Given the description of an element on the screen output the (x, y) to click on. 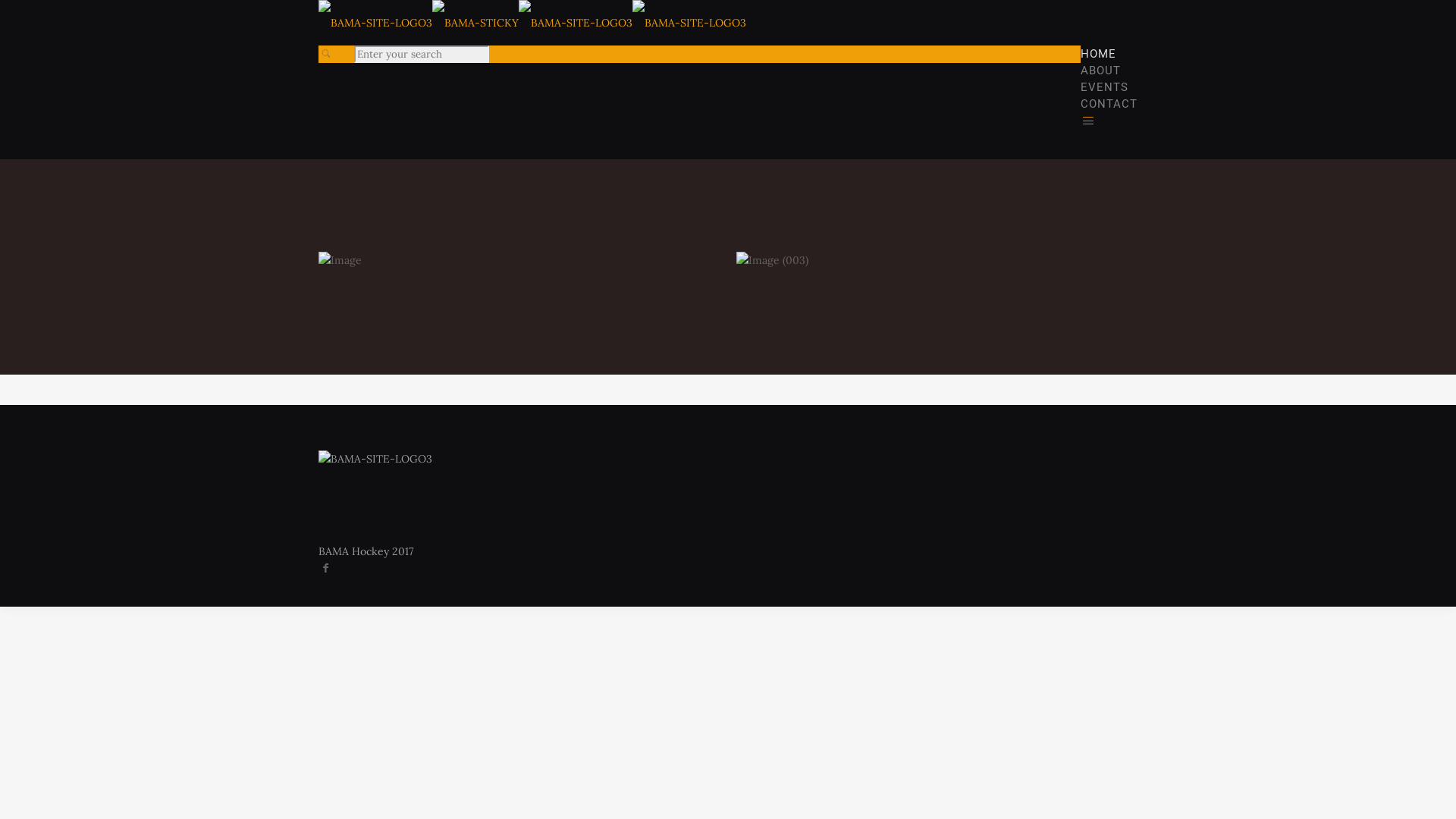
CONTACT Element type: text (1108, 103)
ABOUT Element type: text (1100, 70)
Facebook Element type: hover (325, 567)
EVENTS Element type: text (1104, 86)
HOME Element type: text (1098, 53)
